Given the description of an element on the screen output the (x, y) to click on. 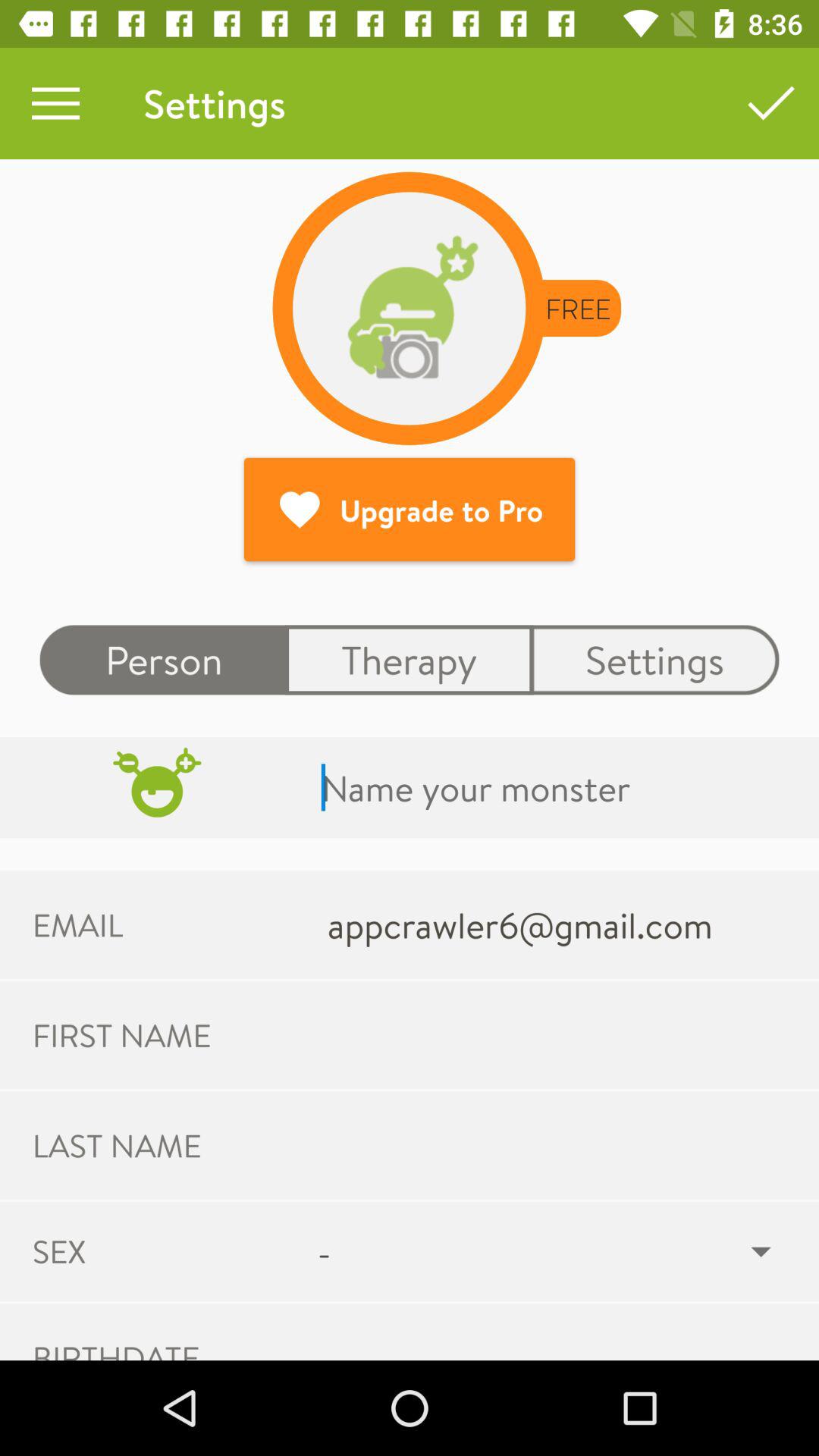
text box option (554, 787)
